Given the description of an element on the screen output the (x, y) to click on. 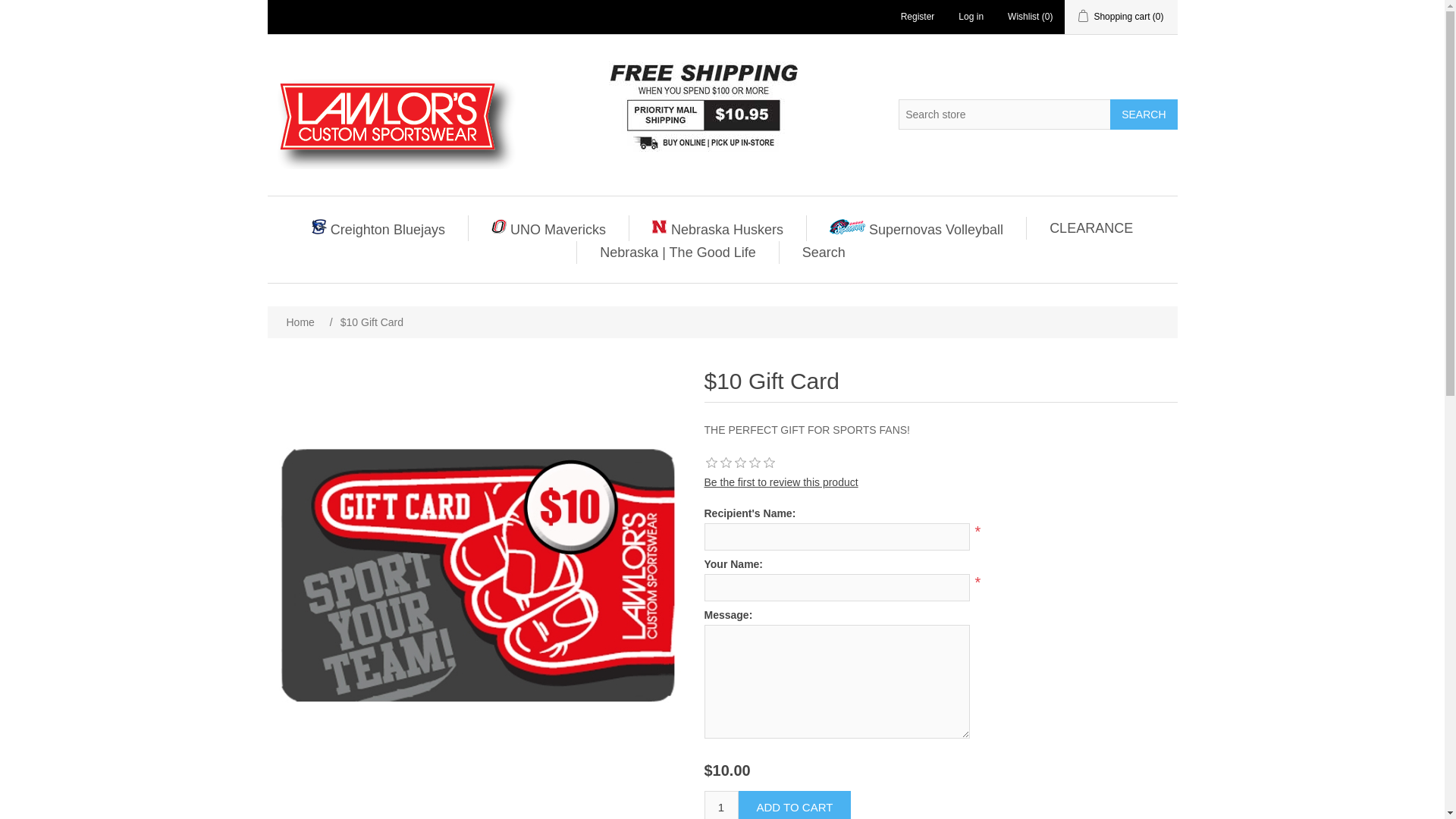
UNO Mavericks (547, 227)
1 (720, 805)
Nebraska Huskers (717, 227)
Supernovas Volleyball (916, 227)
Register (917, 17)
Creighton Bluejays (378, 227)
SEARCH (1142, 113)
CLEARANCE (1091, 228)
